Given the description of an element on the screen output the (x, y) to click on. 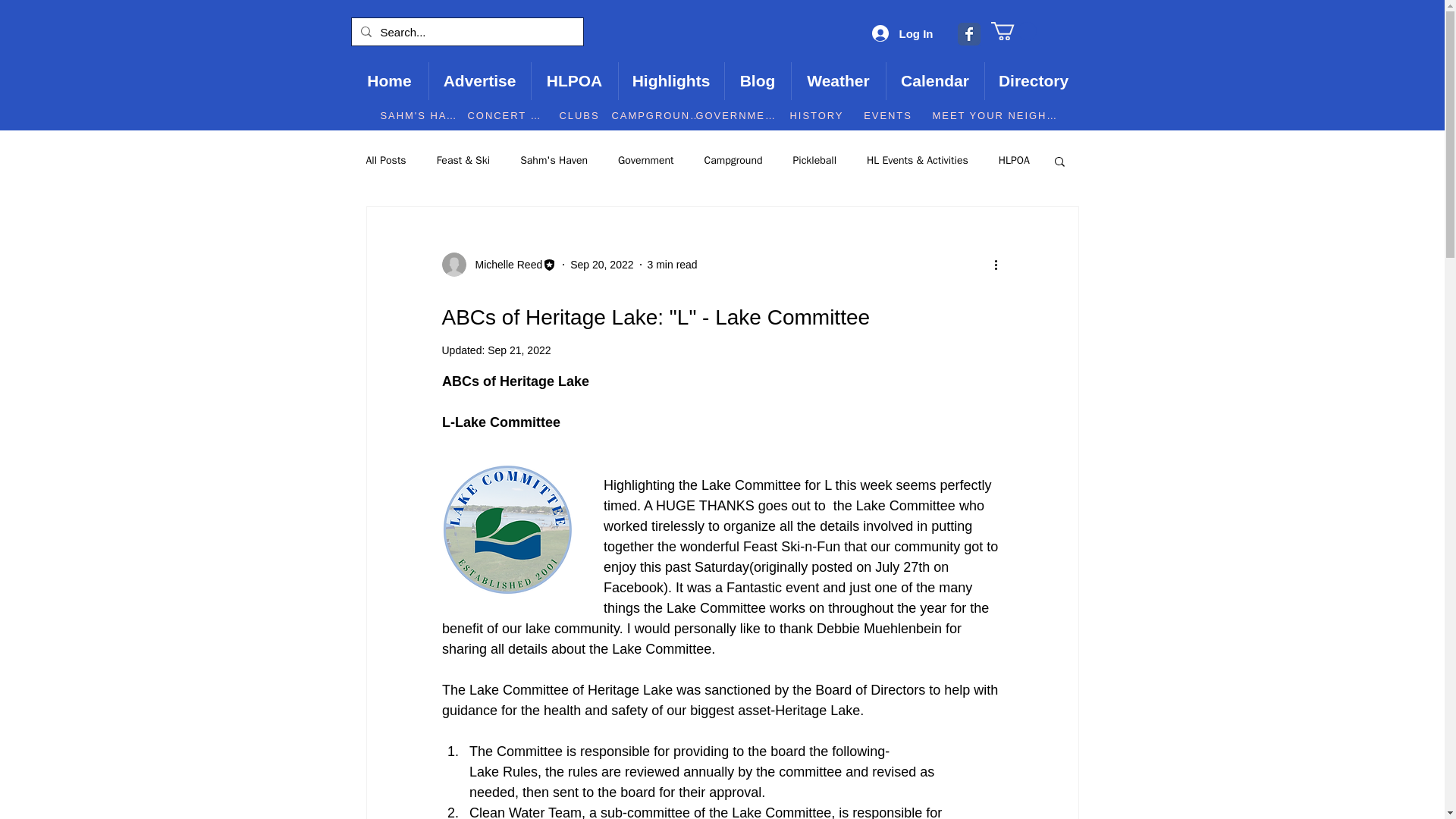
Log In (902, 32)
HLPOA (574, 80)
Calendar (934, 80)
CLUBS (578, 114)
Home (389, 80)
Blog (756, 80)
Weather (837, 80)
Highlights (670, 80)
Directory (1033, 80)
Michelle Reed (503, 264)
Sep 20, 2022 (601, 264)
SAHM'S HAVEN (420, 114)
Sep 21, 2022 (518, 349)
Advertise (478, 80)
3 min read (672, 264)
